Given the description of an element on the screen output the (x, y) to click on. 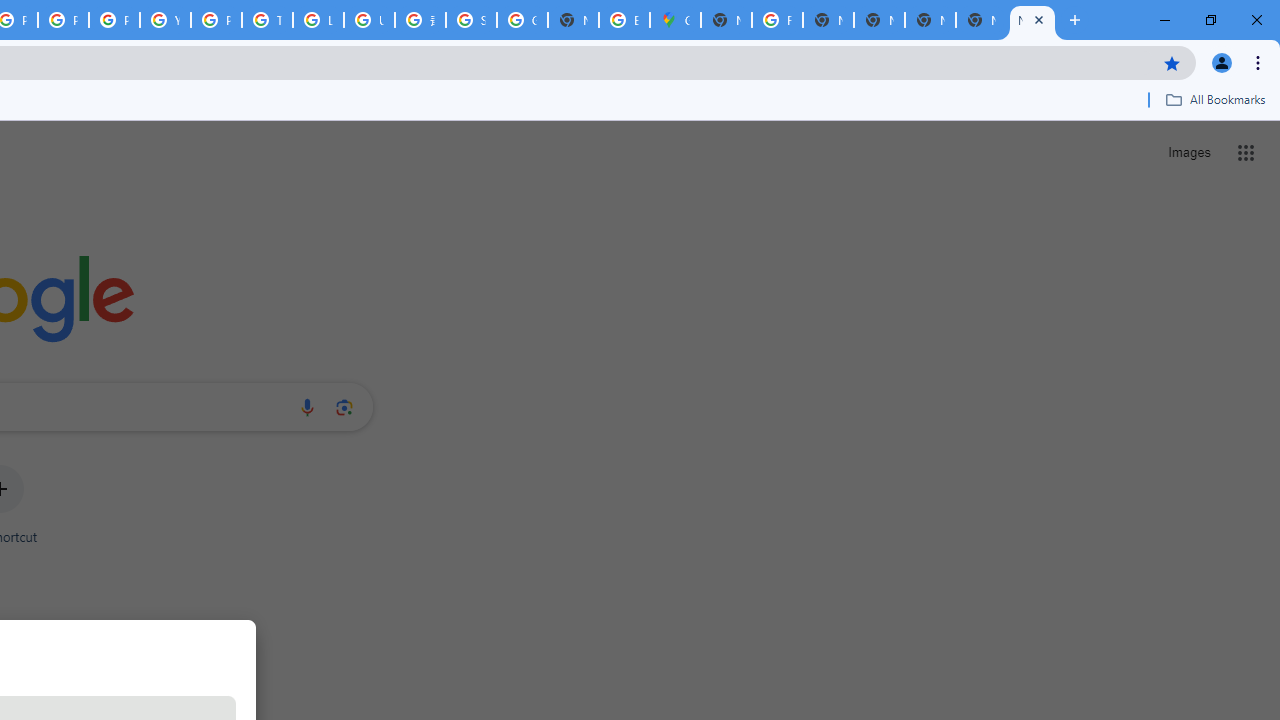
Sign in - Google Accounts (470, 20)
Explore new street-level details - Google Maps Help (624, 20)
Google Maps (675, 20)
Privacy Help Center - Policies Help (63, 20)
